Given the description of an element on the screen output the (x, y) to click on. 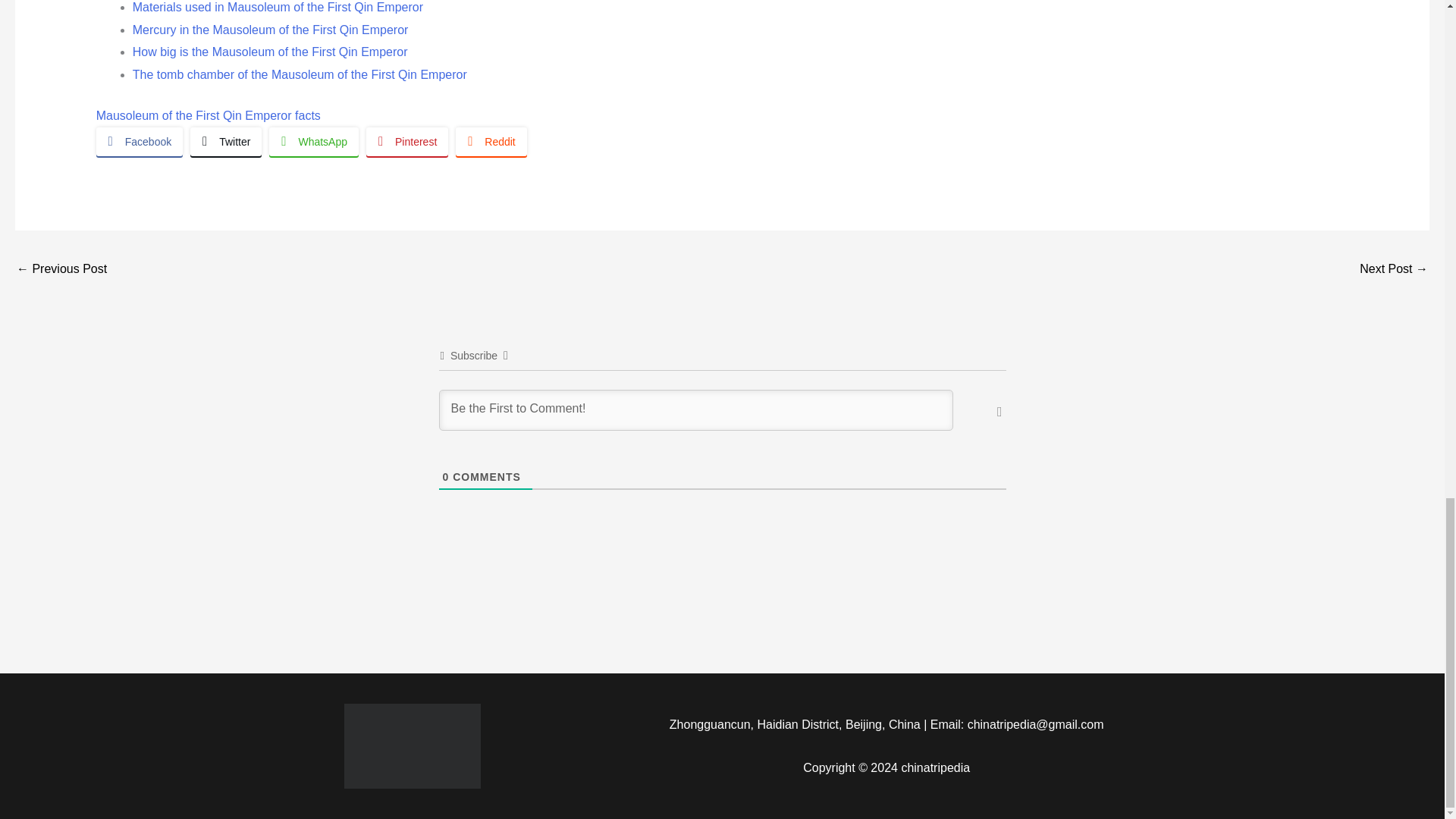
Emperor Wu of Han - The conqueror (1393, 270)
